Given the description of an element on the screen output the (x, y) to click on. 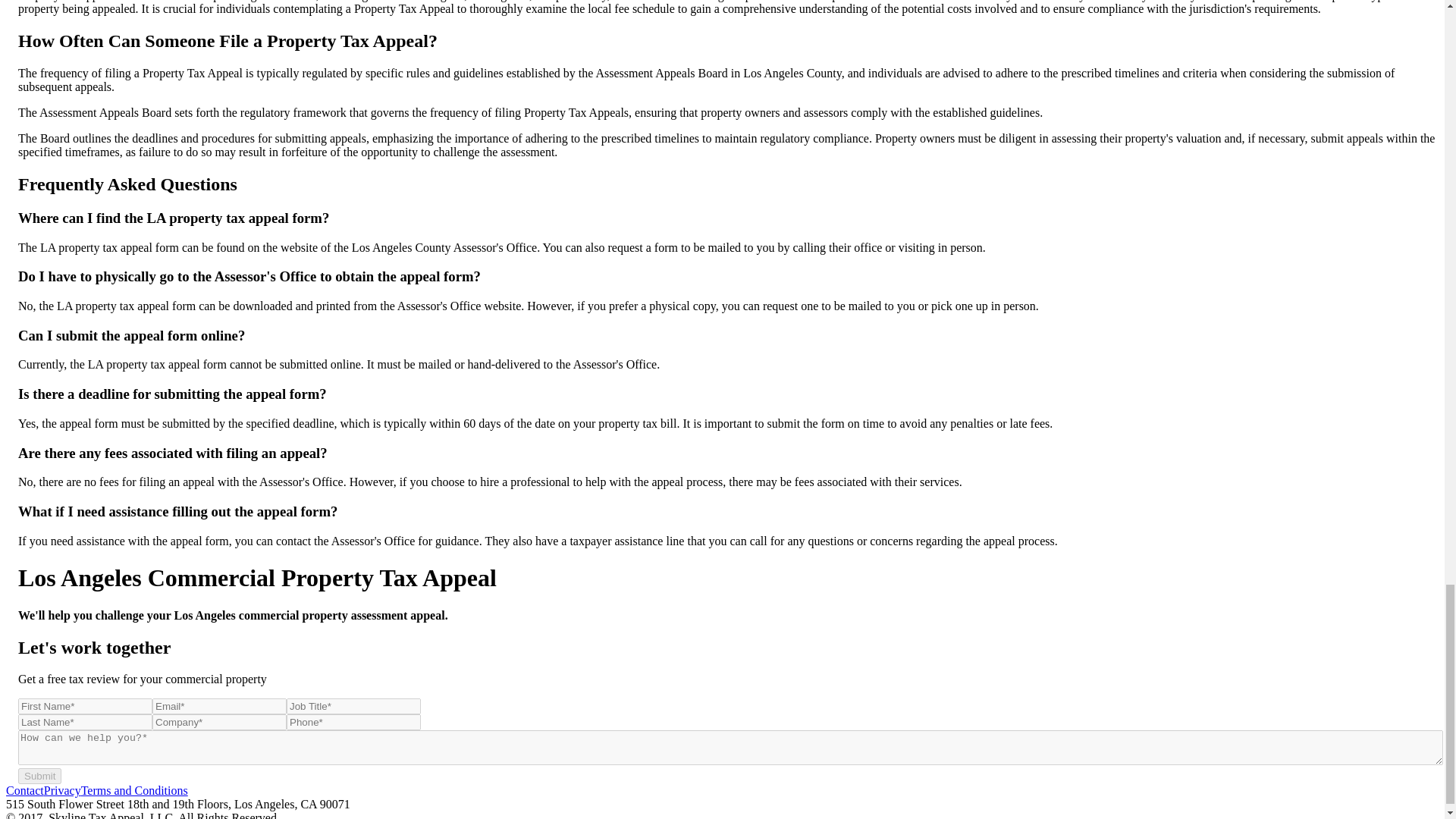
Terms and Conditions (134, 789)
Contact (24, 789)
Privacy (62, 789)
Submit (39, 775)
